Given the description of an element on the screen output the (x, y) to click on. 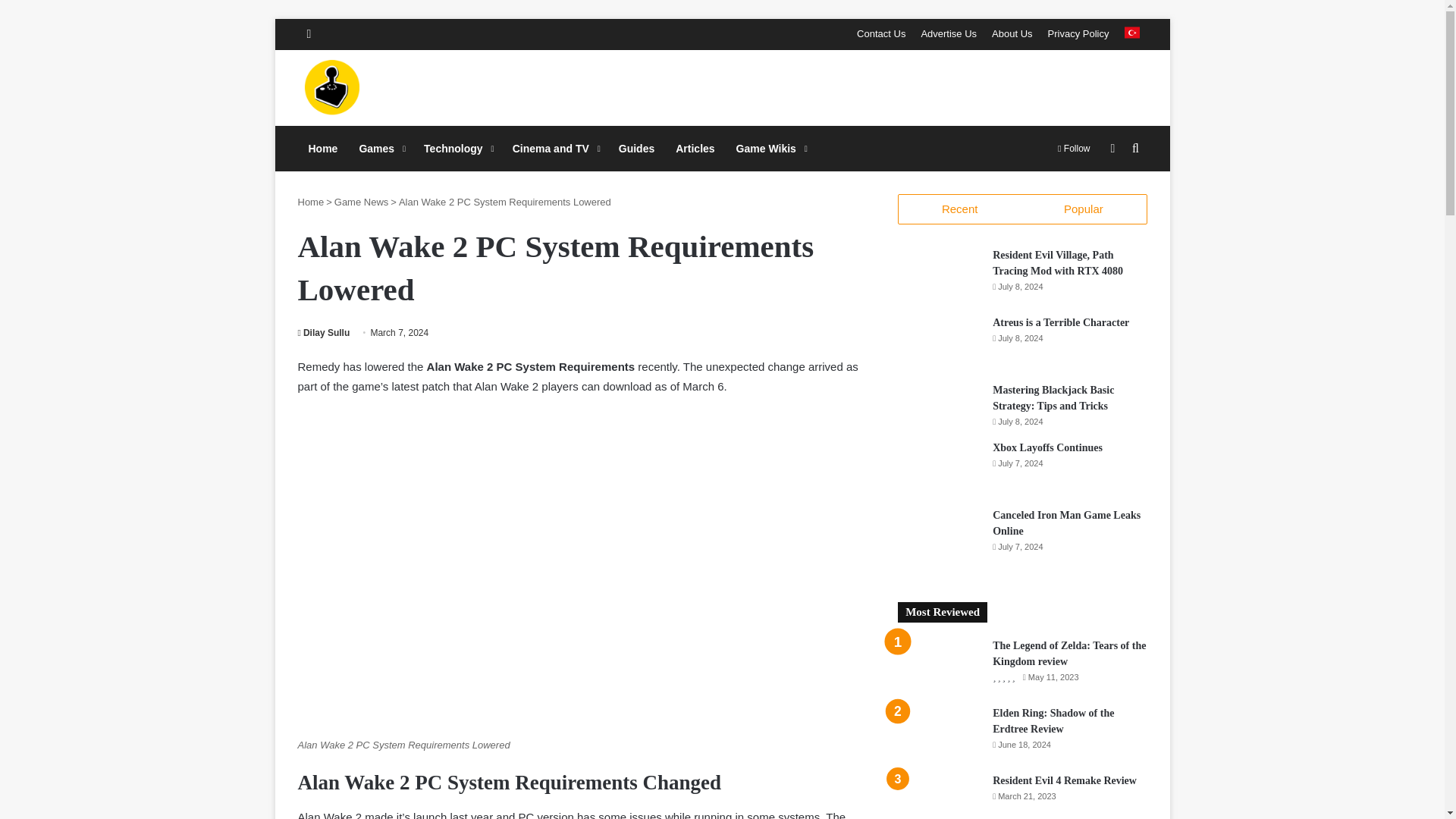
About Us (1011, 33)
Advertise Us (948, 33)
Game Wikis (770, 148)
Cinema and TV (555, 148)
Merlin'in Kazani (385, 88)
Guides (636, 148)
Atreus is a Terrible Character 4 (939, 342)
Dilay Sullu (323, 332)
Contact Us (880, 33)
Mastering Blackjack Basic Strategy: Tips and Tricks 5 (939, 405)
Games (380, 148)
Privacy Policy (1078, 33)
Follow (1073, 148)
Articles (695, 148)
